Given the description of an element on the screen output the (x, y) to click on. 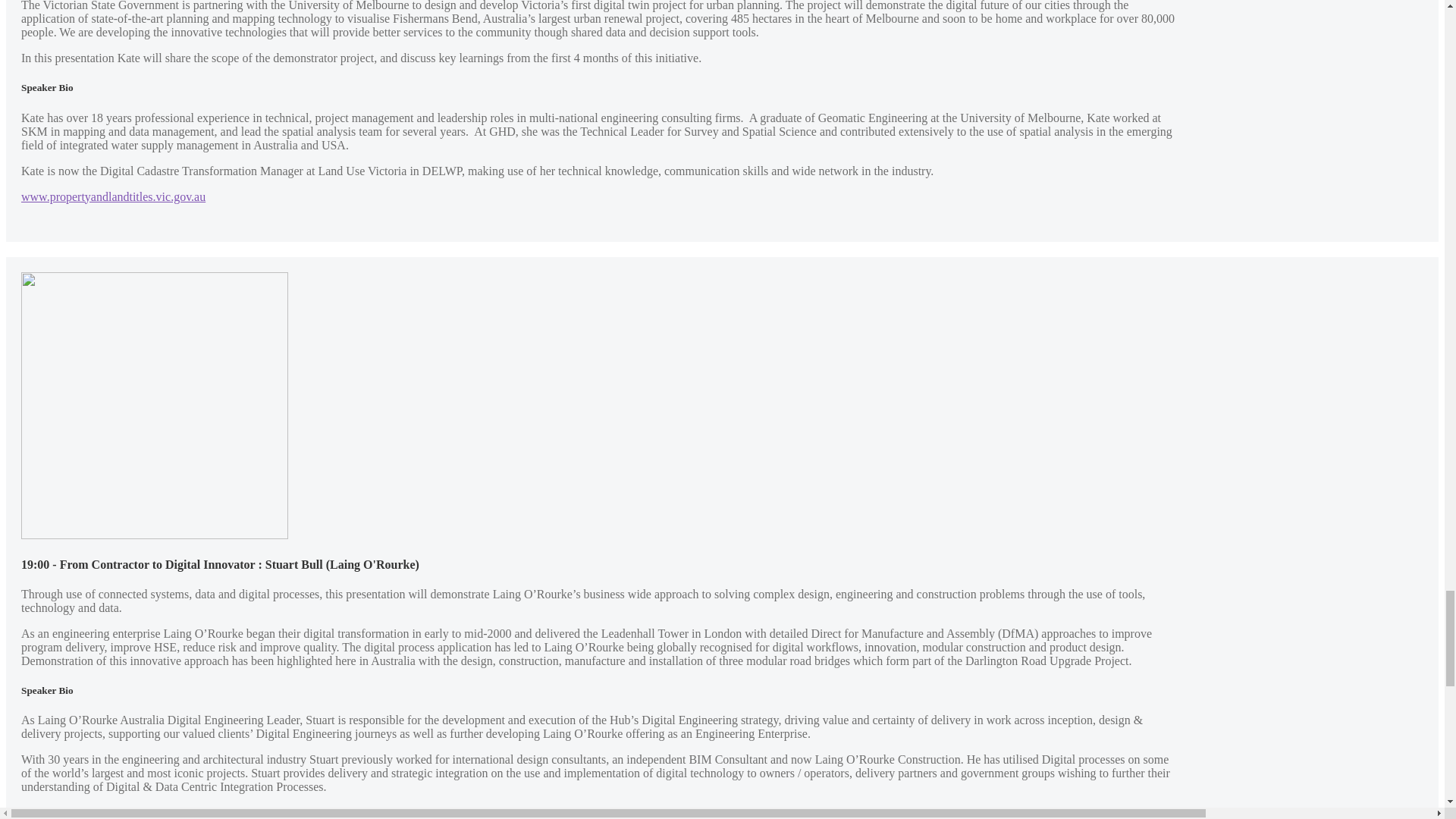
www.laingorourke.com (78, 812)
Stuart Bull (154, 404)
www.propertyandlandtitles.vic.gov.au (113, 195)
